Given the description of an element on the screen output the (x, y) to click on. 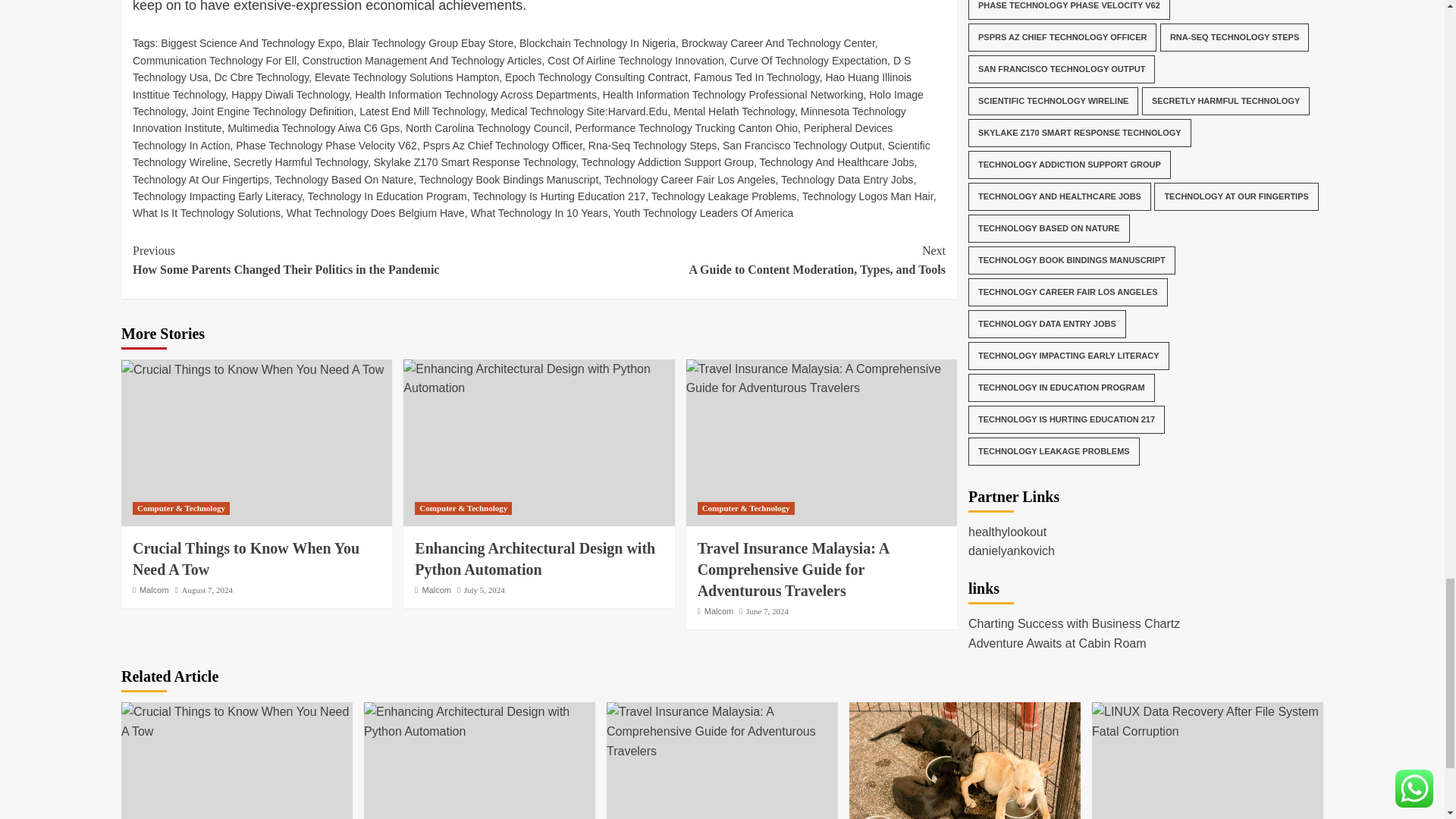
Hao Huang Illinois Insttitue Technology (521, 85)
Happy Diwali Technology (290, 94)
Crucial Things to Know When You Need A Tow (236, 721)
Brockway Career And Technology Center (778, 42)
D S Technology Usa (521, 68)
Curve Of Technology Expectation (809, 60)
Blockchain Technology In Nigeria (597, 42)
Elevate Technology Solutions Hampton (406, 77)
Biggest Science And Technology Expo (251, 42)
